Given the description of an element on the screen output the (x, y) to click on. 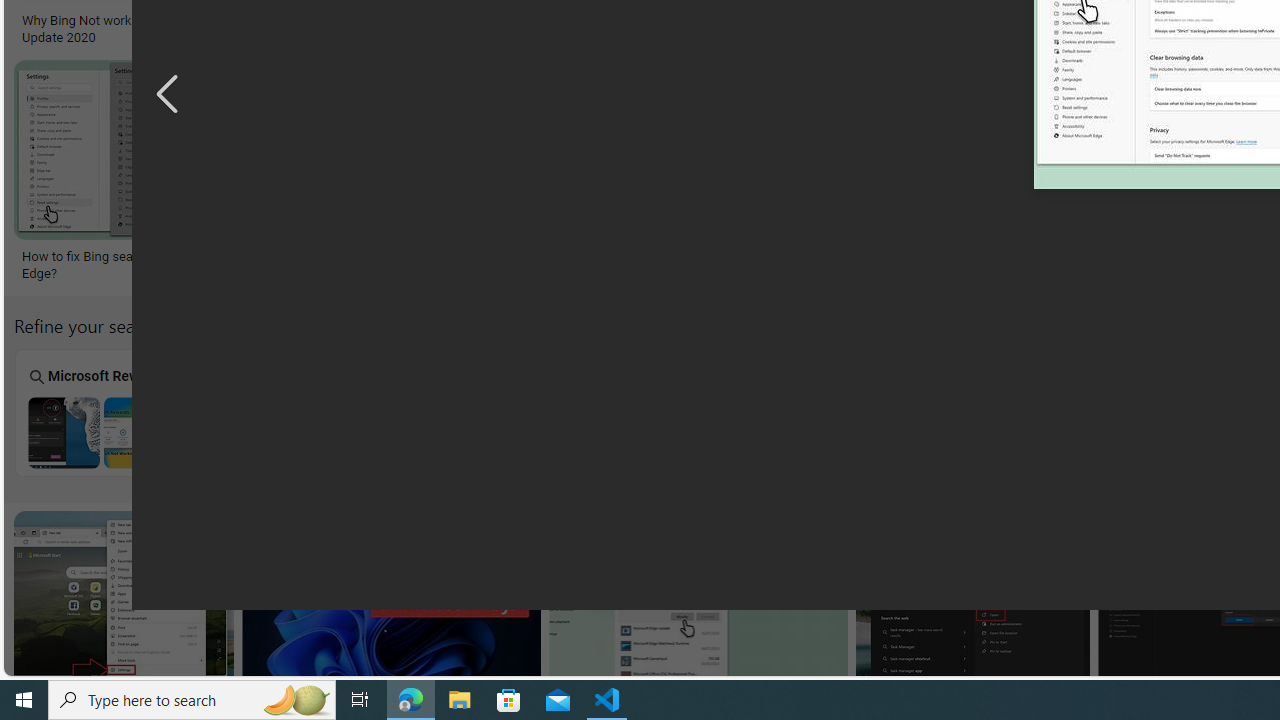
Bing Tablet Search Not Working (641, 432)
1:19 (274, 528)
Image result for Bing Search Not Working (973, 600)
My Tablet (281, 412)
Box (461, 412)
Tablet (641, 412)
Image result for Bing Search Not Working (973, 600)
Bing Search Not Working Properly Properly (1002, 412)
Bing Search Not Working On My Tablet (281, 432)
Bing Search the Web for Image Not Working (1181, 432)
Web For (1181, 412)
